Given the description of an element on the screen output the (x, y) to click on. 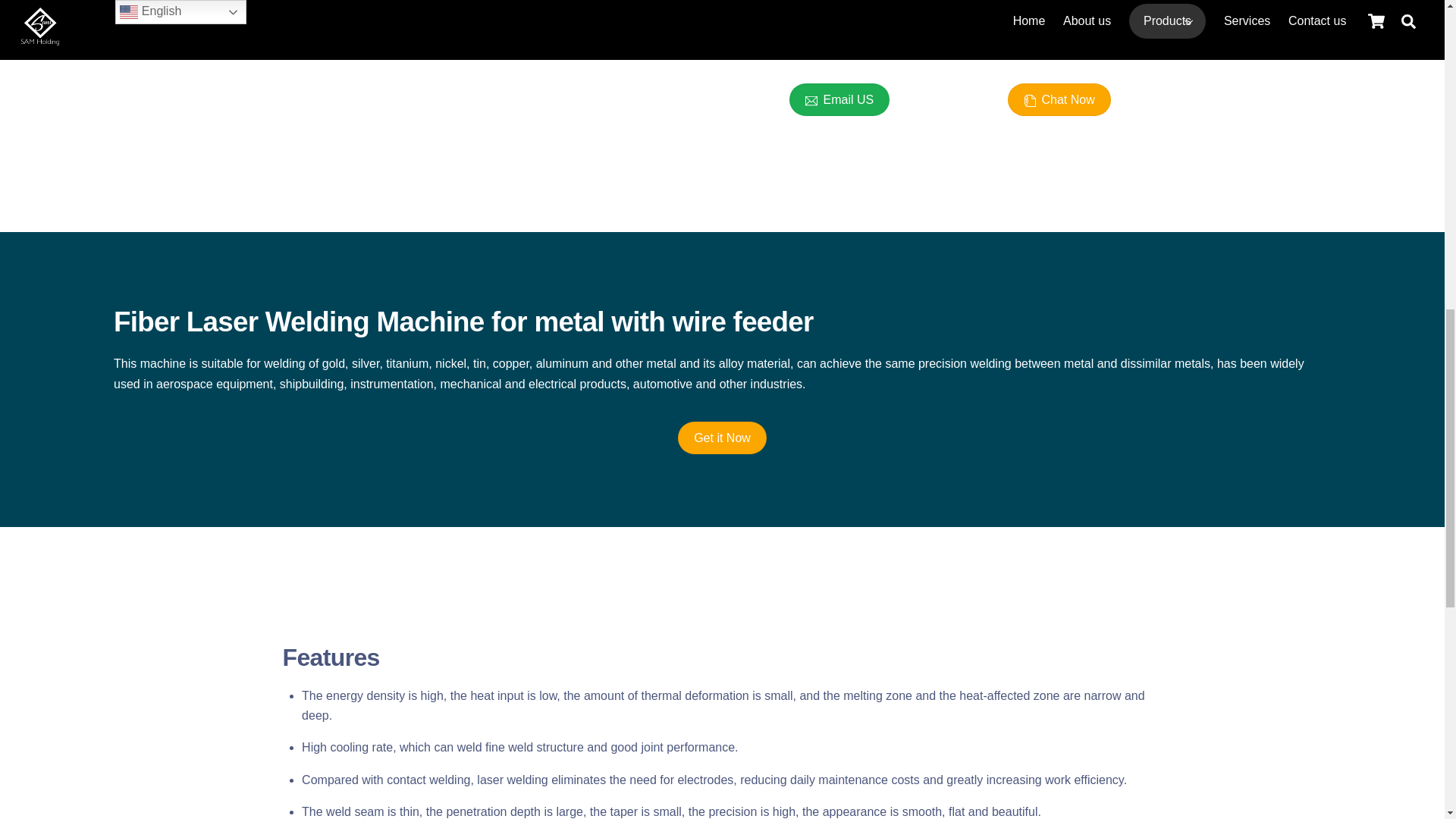
Get it Now (722, 438)
Email US (839, 100)
Chat Now (1058, 100)
